Given the description of an element on the screen output the (x, y) to click on. 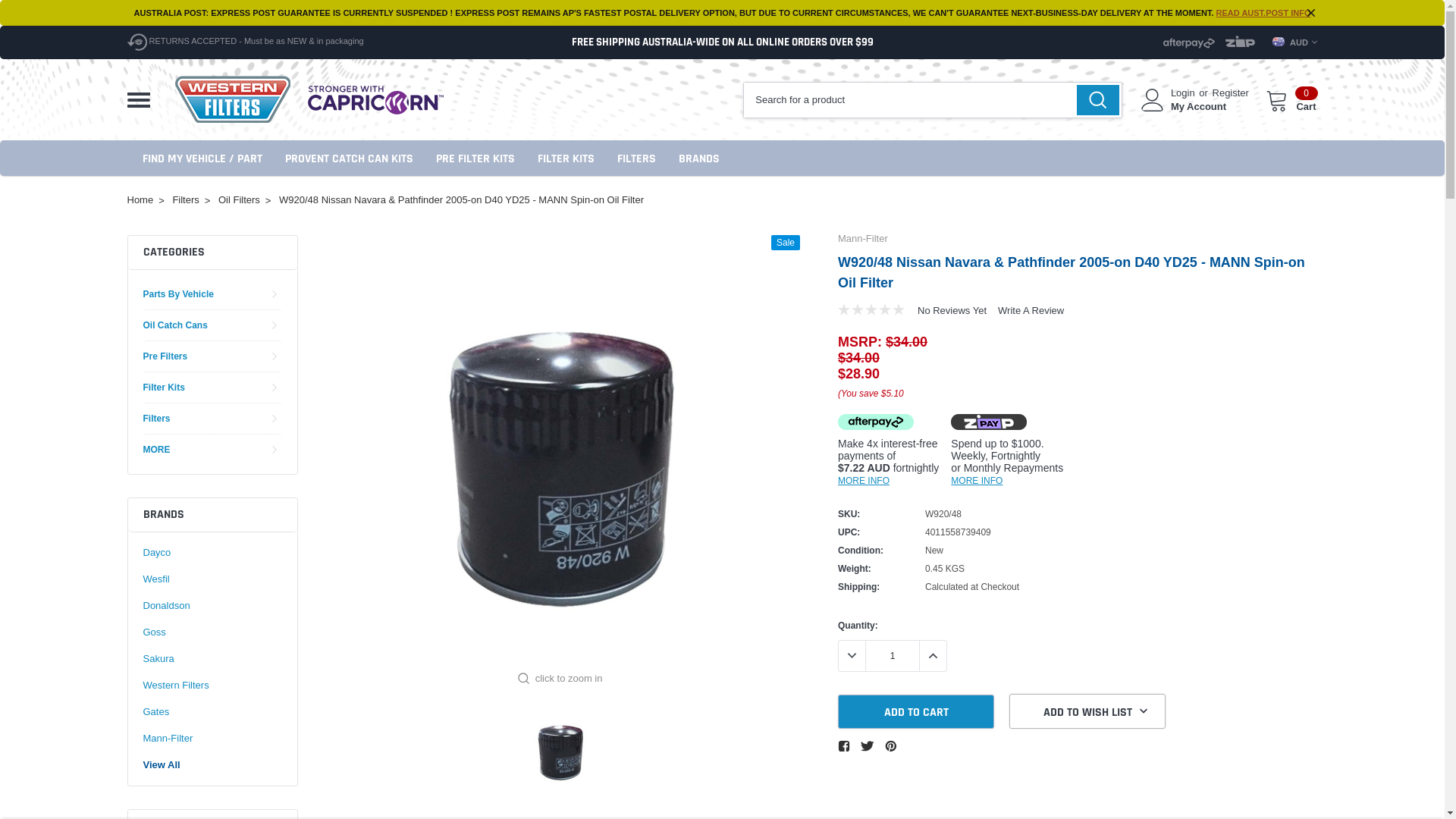
FILTERS Element type: text (636, 158)
FILTER KITS Element type: text (564, 158)
READ AUST.POST INFO Element type: text (1263, 12)
PRE FILTER KITS Element type: text (474, 158)
Sakura Element type: text (157, 658)
Western Filters Element type: hover (232, 99)
View All Element type: text (160, 764)
Donaldson Element type: text (165, 605)
Filters Element type: text (155, 418)
Filters Element type: text (185, 199)
Pre Filters Element type: text (164, 356)
0
Cart Element type: text (1291, 99)
Oil Filters Element type: text (239, 199)
Goss Element type: text (153, 632)
MORE INFO Element type: text (863, 479)
AUD Element type: text (1294, 42)
Western Filters Element type: text (175, 685)
DECREASE QUANTITY: Element type: text (852, 655)
INCREASE QUANTITY: Element type: text (932, 655)
MORE INFO Element type: text (976, 479)
Filter Kits Element type: text (163, 387)
Oil Catch Cans Element type: text (174, 325)
MORE Element type: text (155, 449)
Gates Element type: text (155, 711)
My Account Element type: text (1198, 106)
Home Element type: text (140, 199)
Register Element type: text (1230, 93)
Mann-Filter Element type: text (862, 238)
FIND MY VEHICLE / PART Element type: text (202, 158)
Wesfil Element type: text (155, 578)
ADD TO WISH LIST Element type: text (1087, 710)
Parts By Vehicle Element type: text (177, 294)
PROVENT CATCH CAN KITS Element type: text (349, 158)
Dayco Element type: text (156, 552)
Login Element type: text (1182, 93)
Add to Cart Element type: text (915, 711)
Mann-Filter Element type: text (167, 738)
Toggle menu Element type: text (138, 99)
BRANDS Element type: text (697, 158)
Write A Review Element type: text (1030, 310)
